Given the description of an element on the screen output the (x, y) to click on. 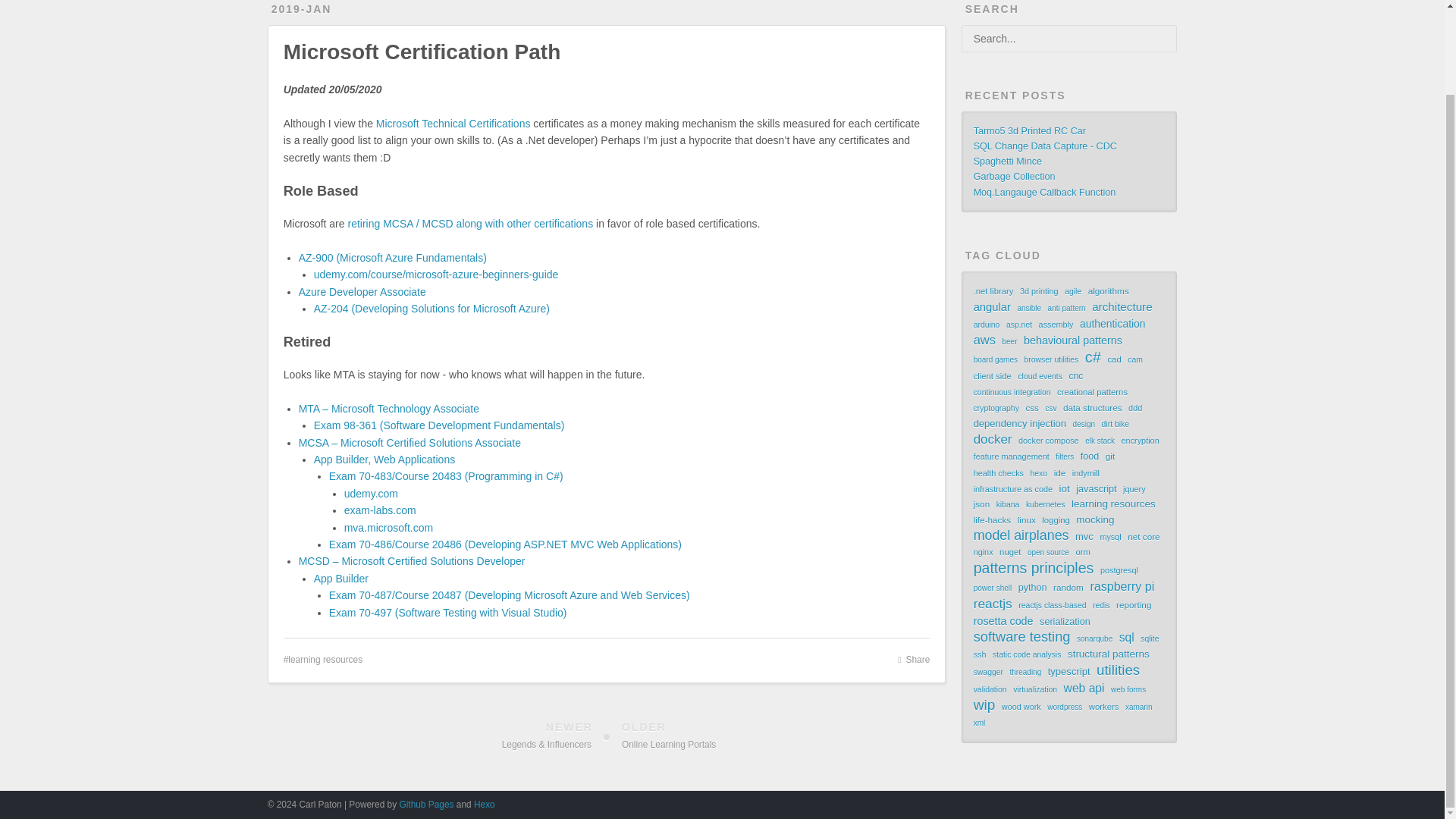
udemy.com (370, 493)
learning resources (322, 659)
Microsoft Technical Certifications (453, 123)
App Builder, Web Applications (384, 459)
Azure Developer Associate (362, 291)
exam-labs.com (379, 510)
mva.microsoft.com (387, 527)
App Builder (341, 578)
Share (914, 659)
2019-JAN (300, 9)
